Given the description of an element on the screen output the (x, y) to click on. 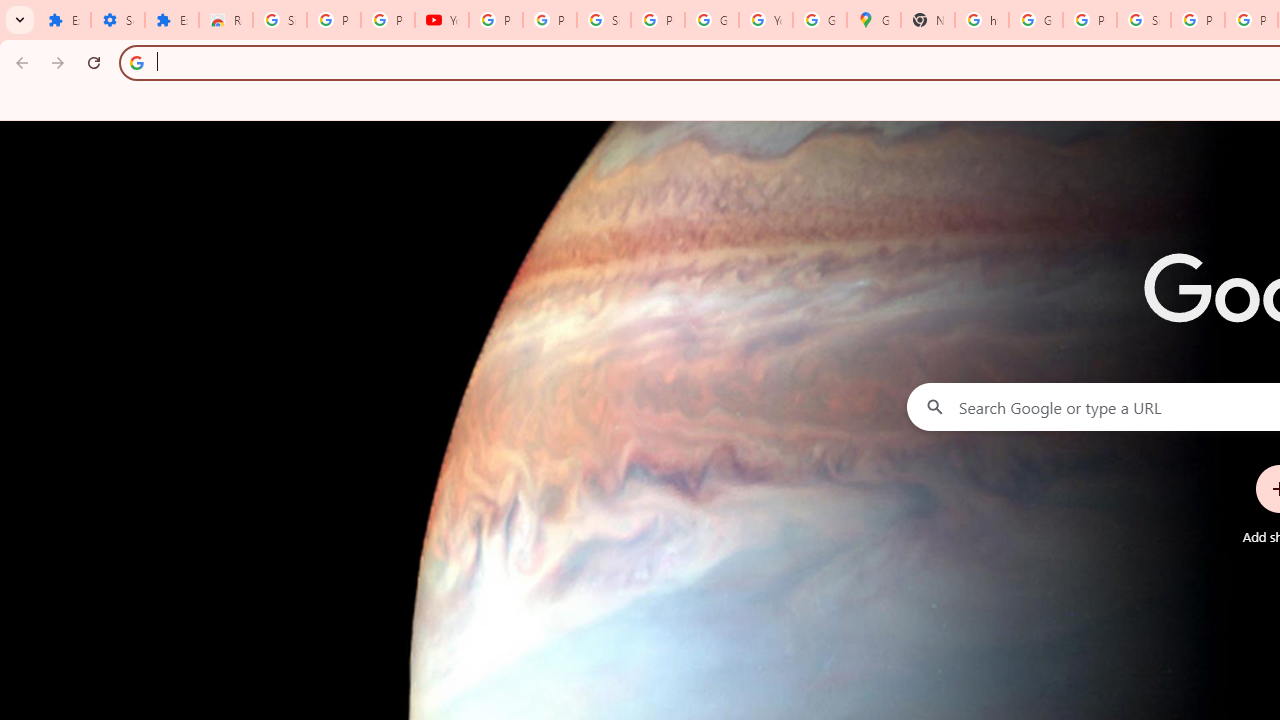
Settings (117, 20)
Sign in - Google Accounts (604, 20)
Google Maps (874, 20)
YouTube (765, 20)
Reviews: Helix Fruit Jump Arcade Game (225, 20)
Sign in - Google Accounts (280, 20)
YouTube (441, 20)
Search icon (136, 62)
